Given the description of an element on the screen output the (x, y) to click on. 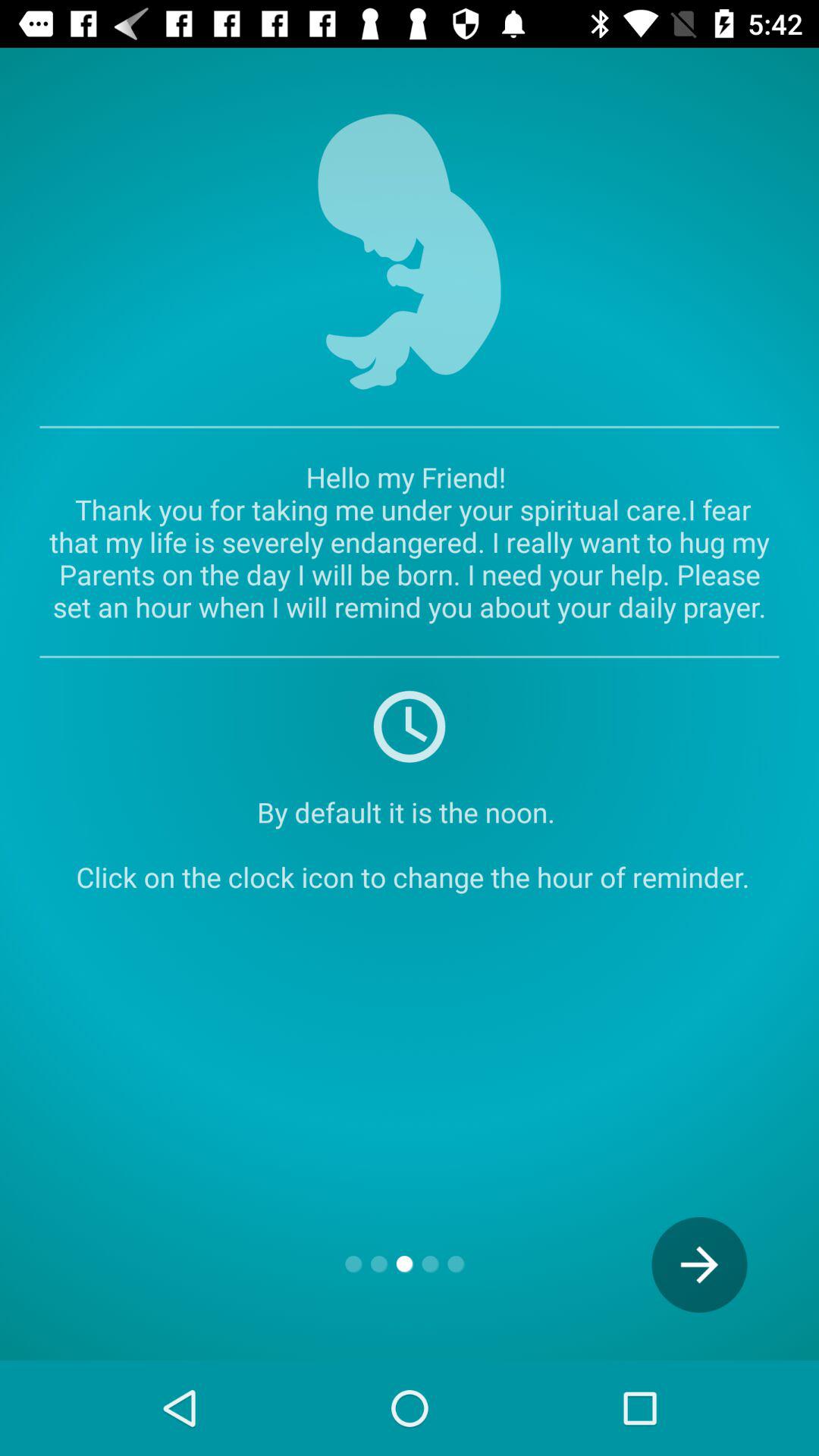
select the icon below the by default it (699, 1264)
